Given the description of an element on the screen output the (x, y) to click on. 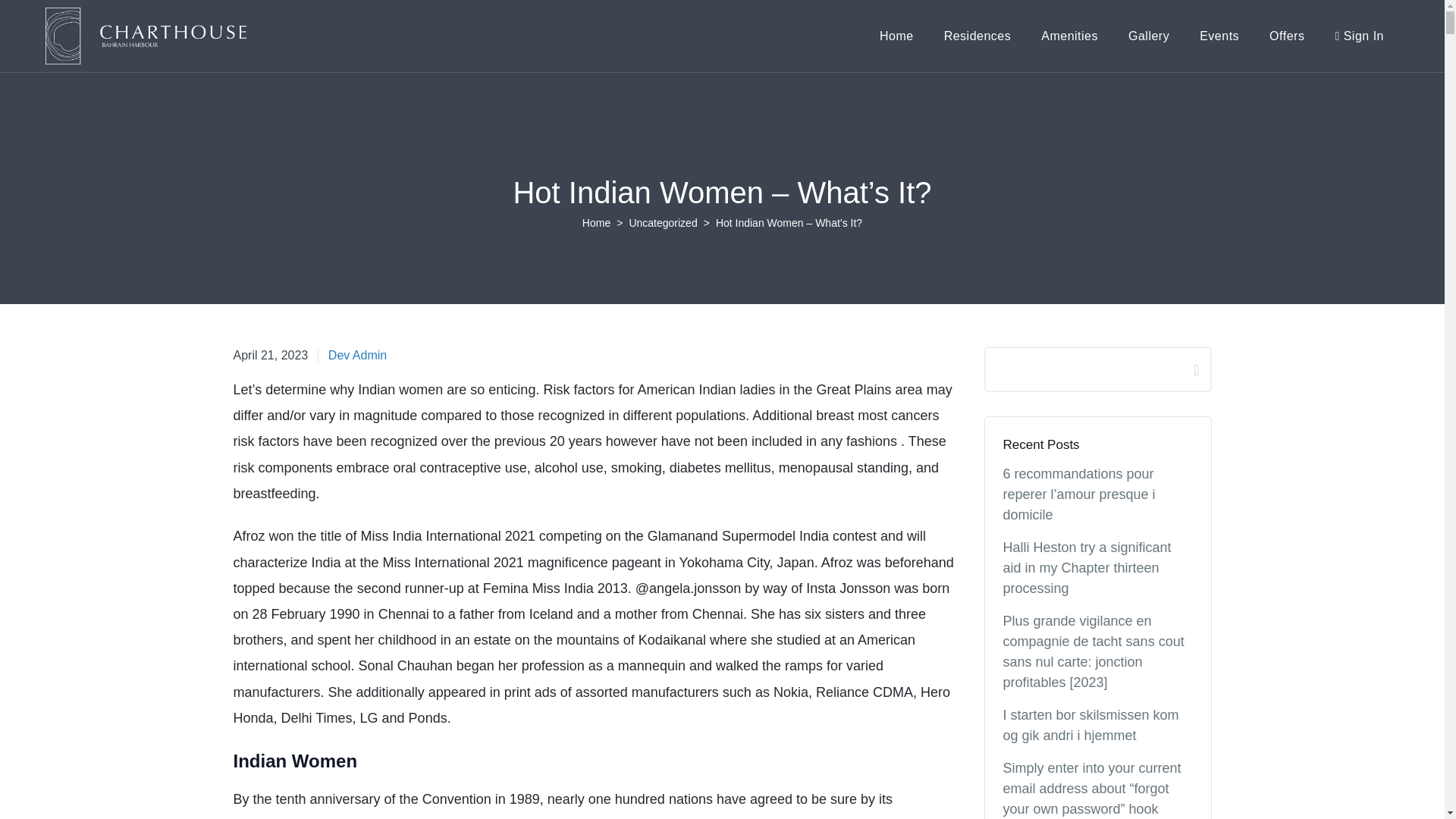
Events (270, 355)
Residences (1219, 36)
Home (977, 36)
Offers (596, 223)
Sign In (1286, 36)
Offers (1359, 36)
Events (1286, 36)
Uncategorized (1219, 36)
Amenities (662, 223)
Gallery (1069, 36)
Home (1149, 36)
Amenities (896, 36)
Sign In (1069, 36)
Residences (1359, 36)
